Given the description of an element on the screen output the (x, y) to click on. 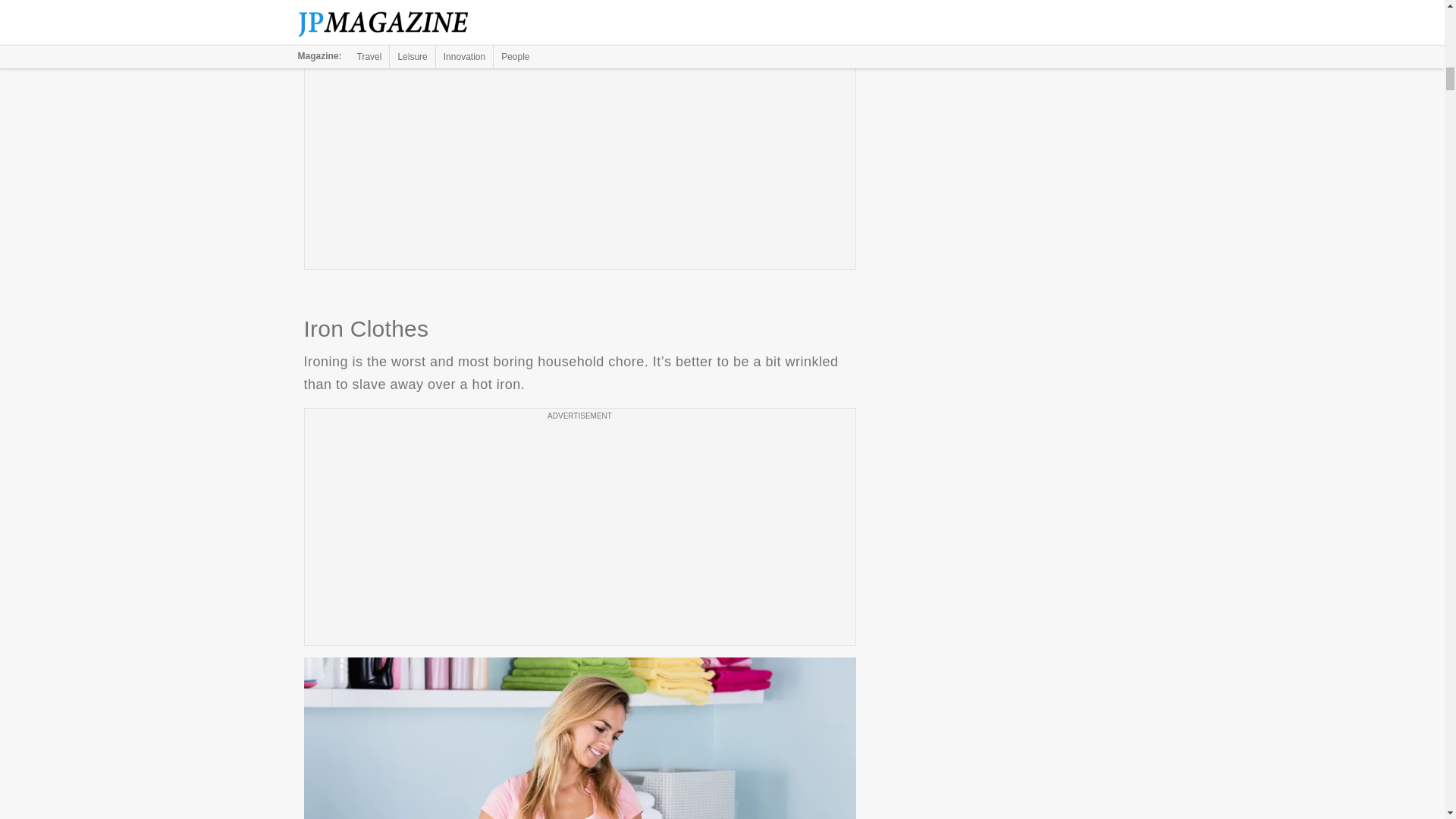
Iron Clothes (579, 738)
